Given the description of an element on the screen output the (x, y) to click on. 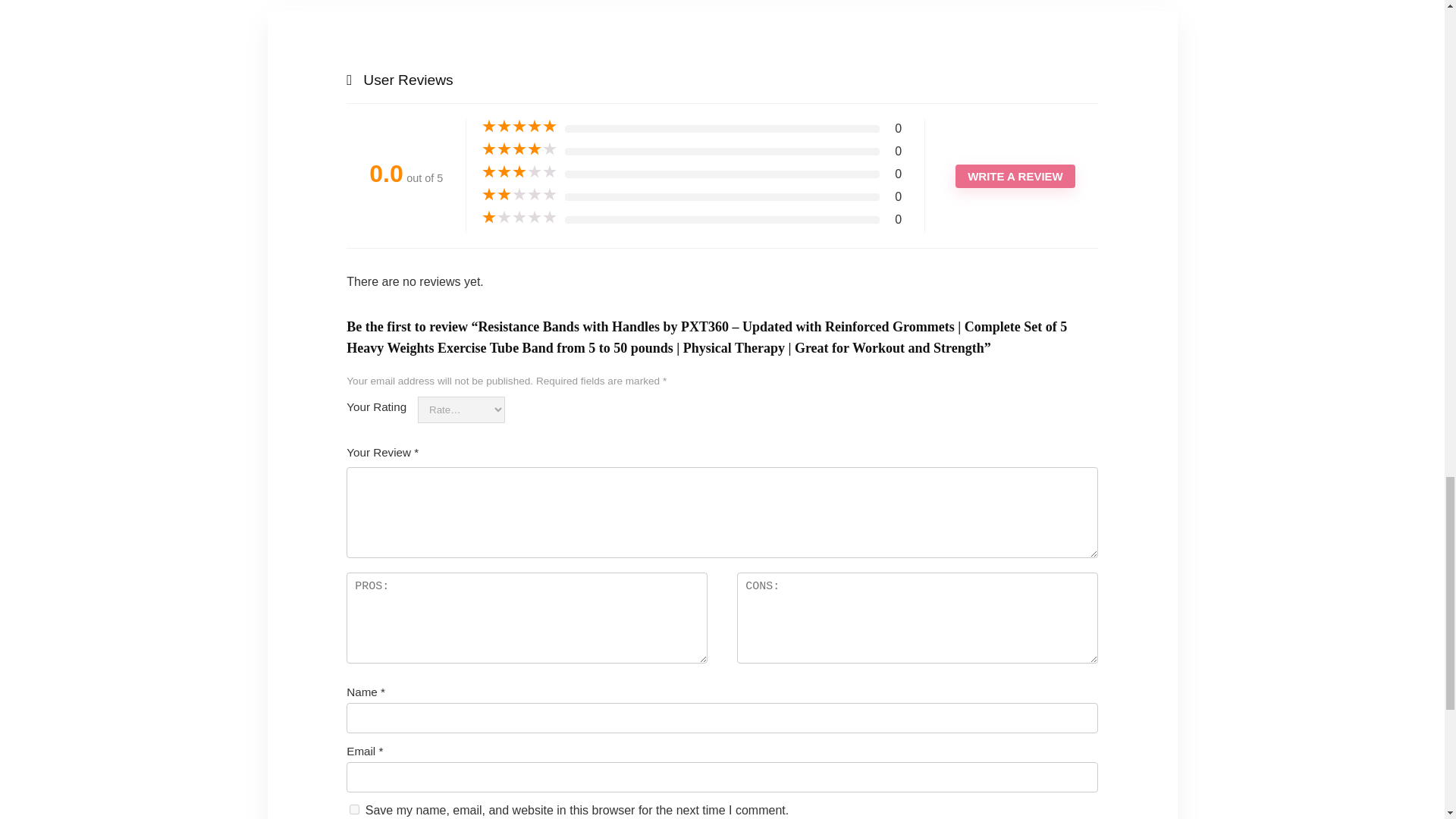
Rated 4 out of 5 (519, 149)
Rated 1 out of 5 (519, 217)
Rated 5 out of 5 (519, 126)
yes (354, 809)
Rated 3 out of 5 (519, 171)
WRITE A REVIEW (1015, 176)
Rated 2 out of 5 (519, 194)
